Given the description of an element on the screen output the (x, y) to click on. 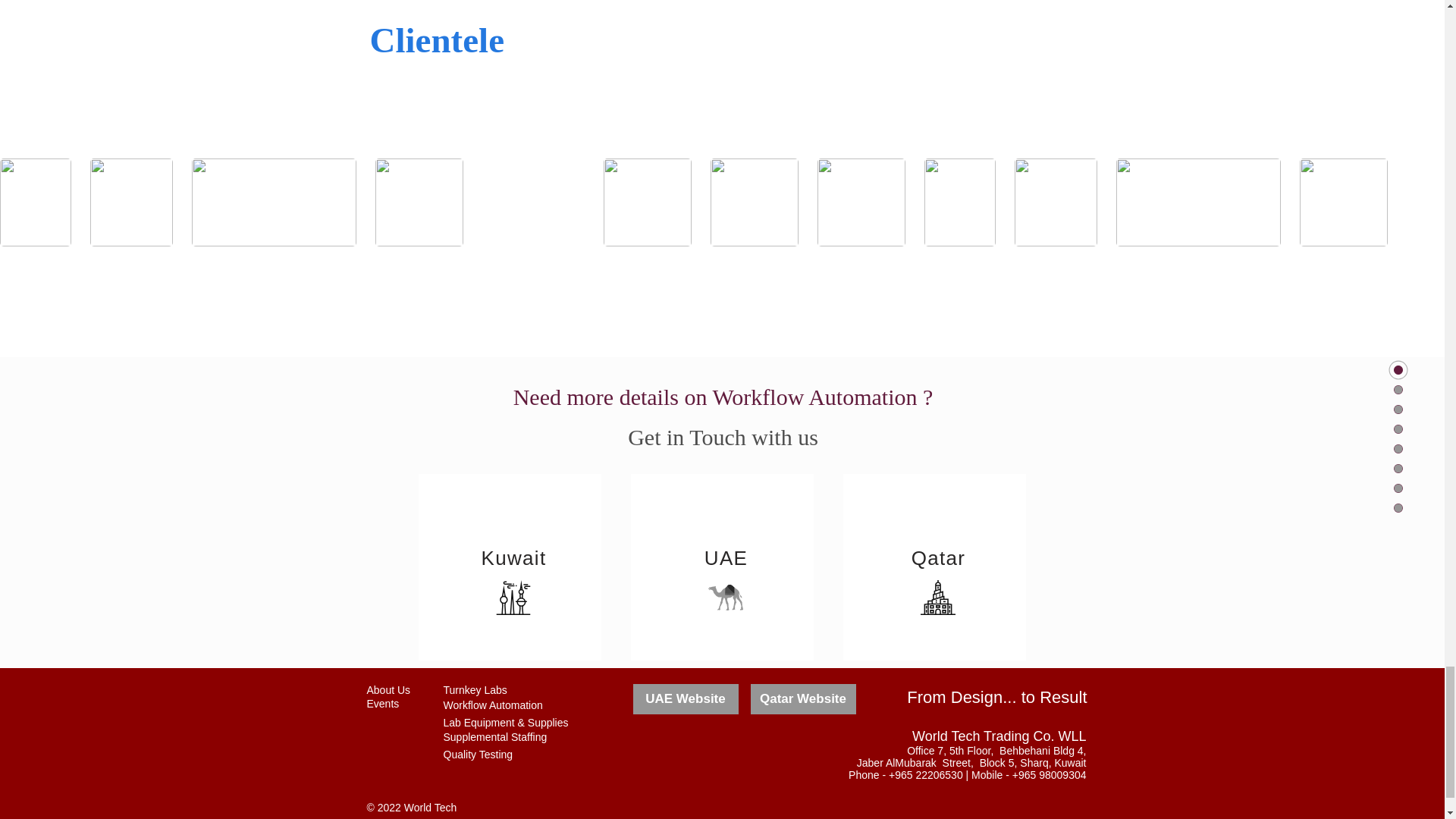
Quality Testing (477, 754)
Events (382, 703)
Workflow Automation (491, 705)
Turnkey Labs (474, 689)
About Us (388, 689)
Qatar Website (803, 698)
Supplemental Staffing (494, 736)
UAE Website (684, 698)
